Given the description of an element on the screen output the (x, y) to click on. 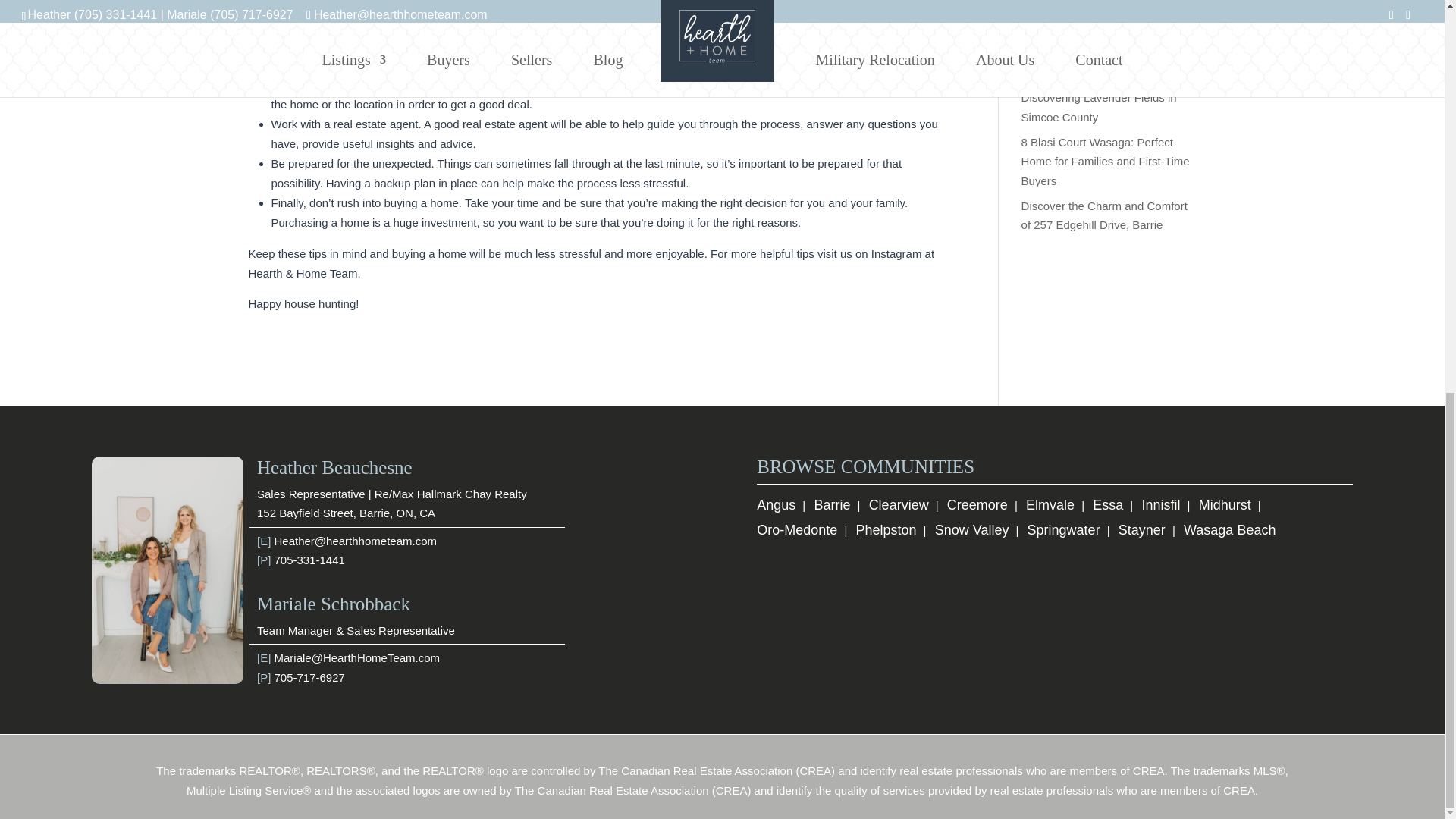
Discovering Lavender Fields in Simcoe County (1099, 106)
Tips for Sellers: Make Sure Your Home Smells Great (1103, 7)
